Given the description of an element on the screen output the (x, y) to click on. 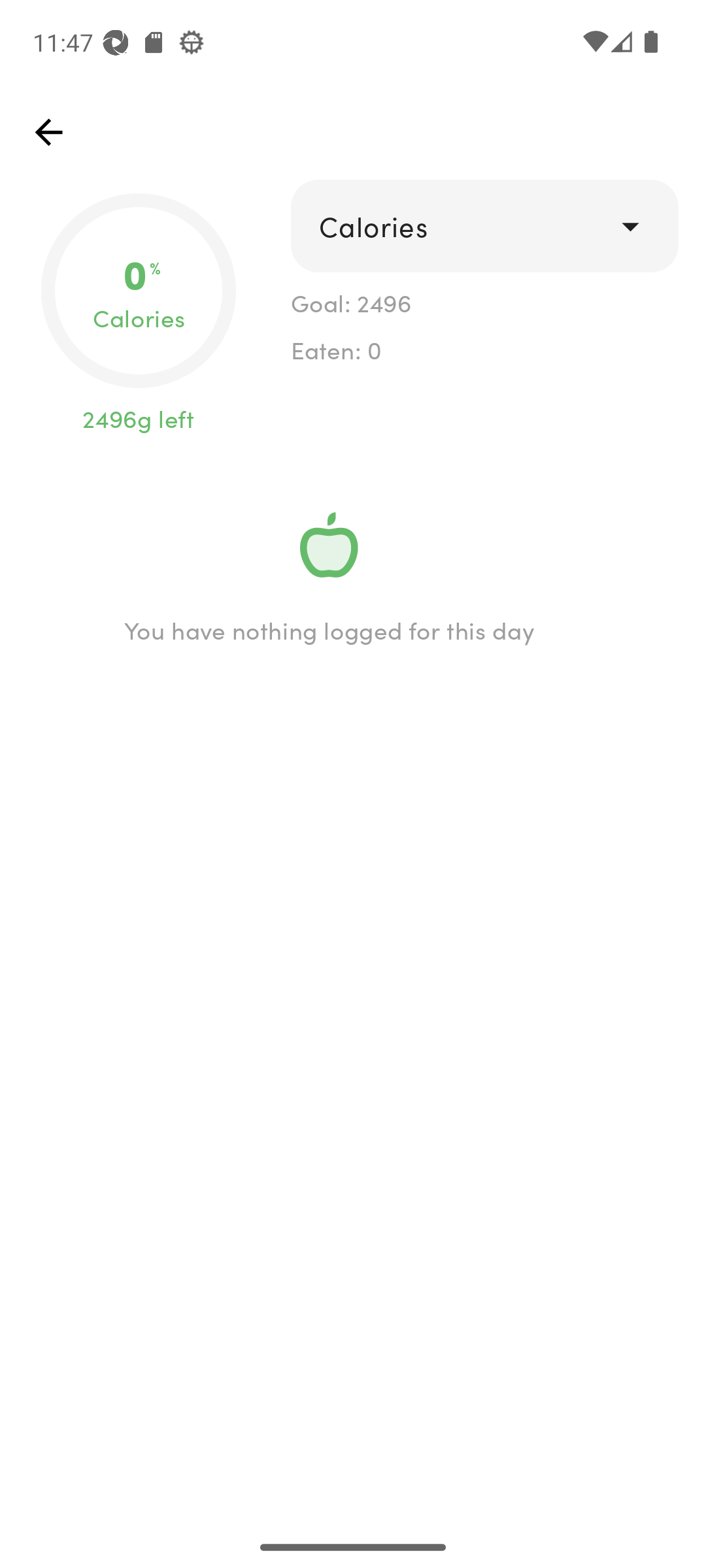
top_left_action (48, 132)
drop_down Calories (484, 226)
